Given the description of an element on the screen output the (x, y) to click on. 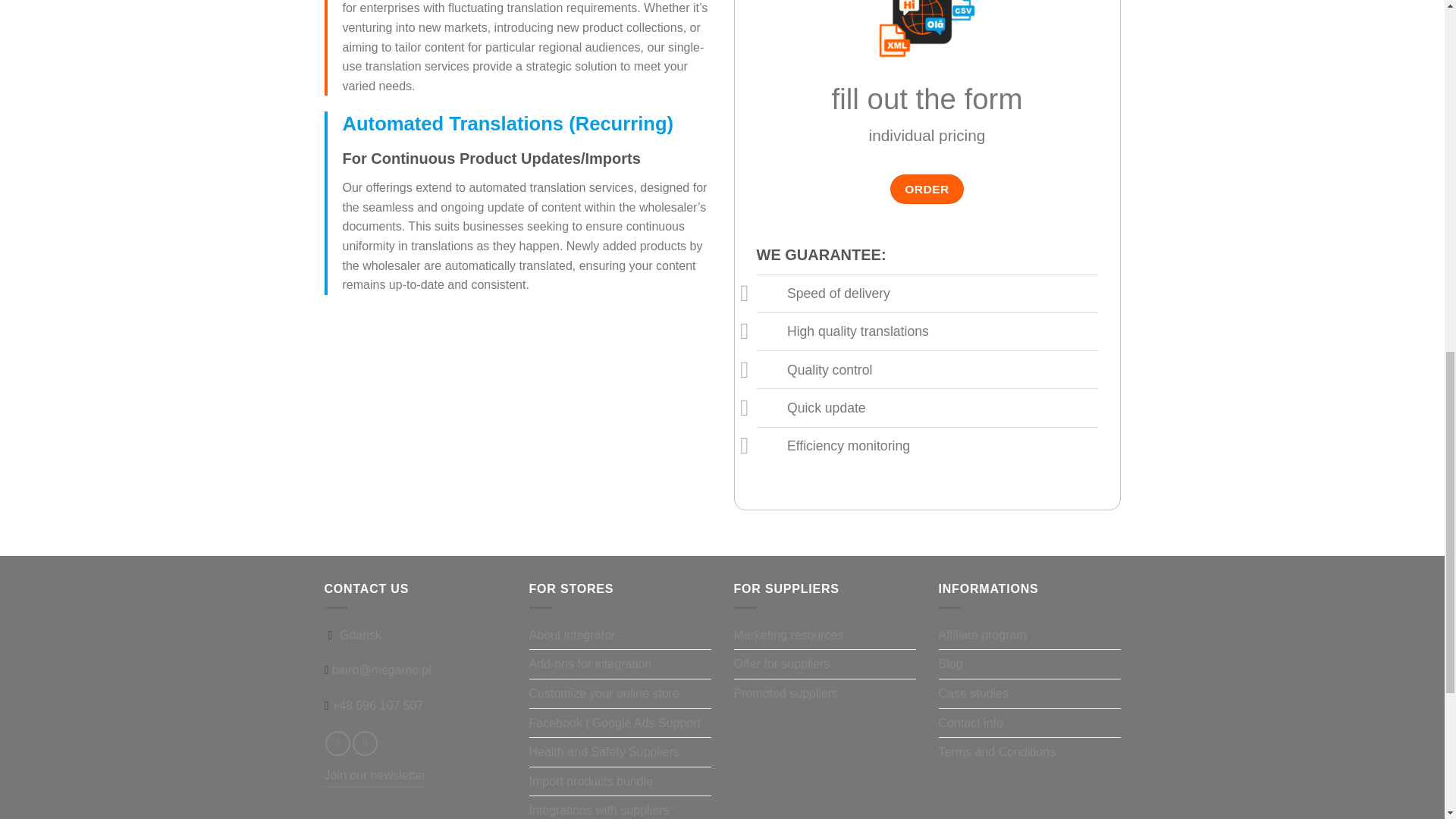
Follow on Facebook (337, 743)
Follow on YouTube (364, 743)
